Given the description of an element on the screen output the (x, y) to click on. 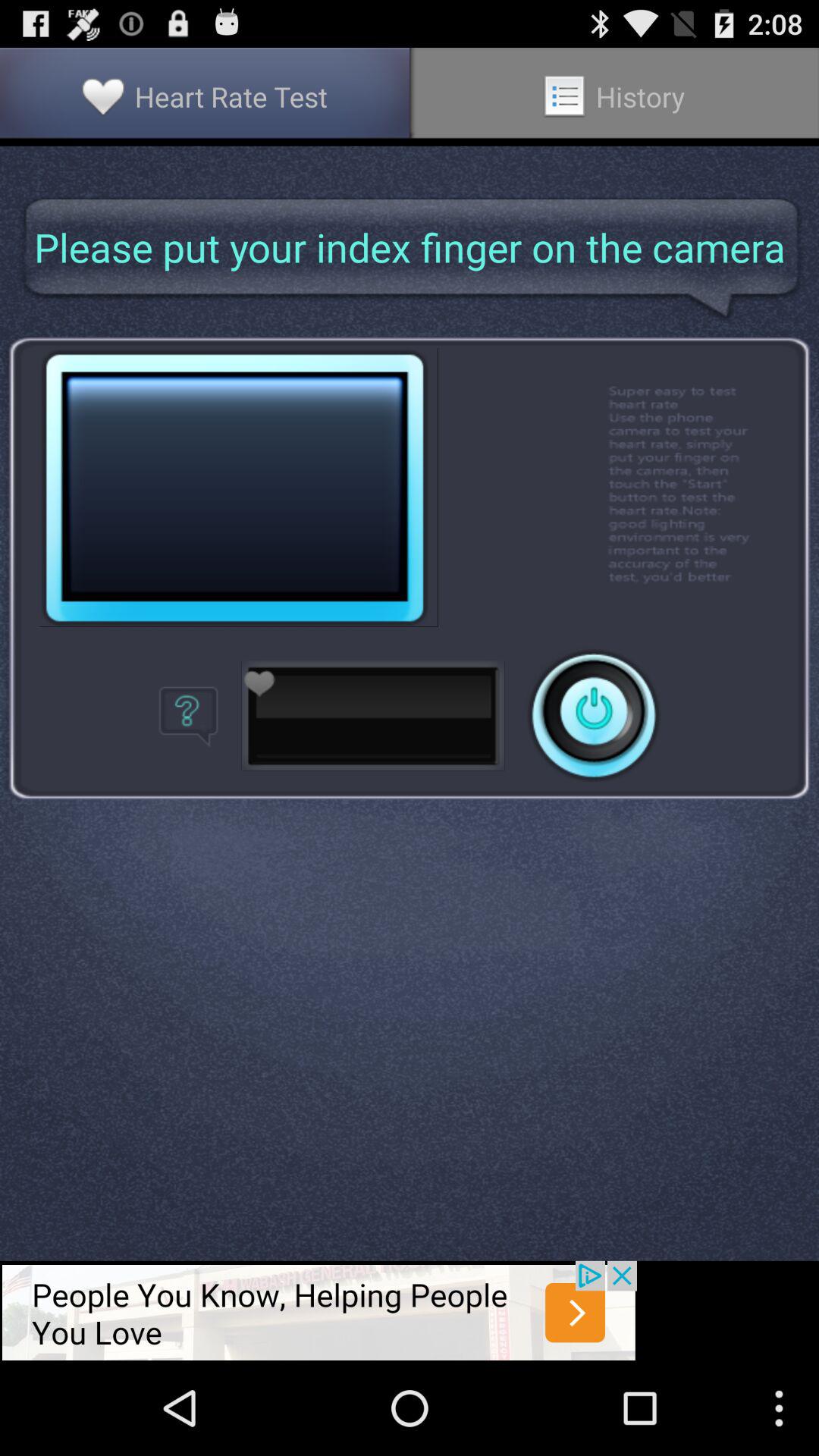
an (593, 715)
